Given the description of an element on the screen output the (x, y) to click on. 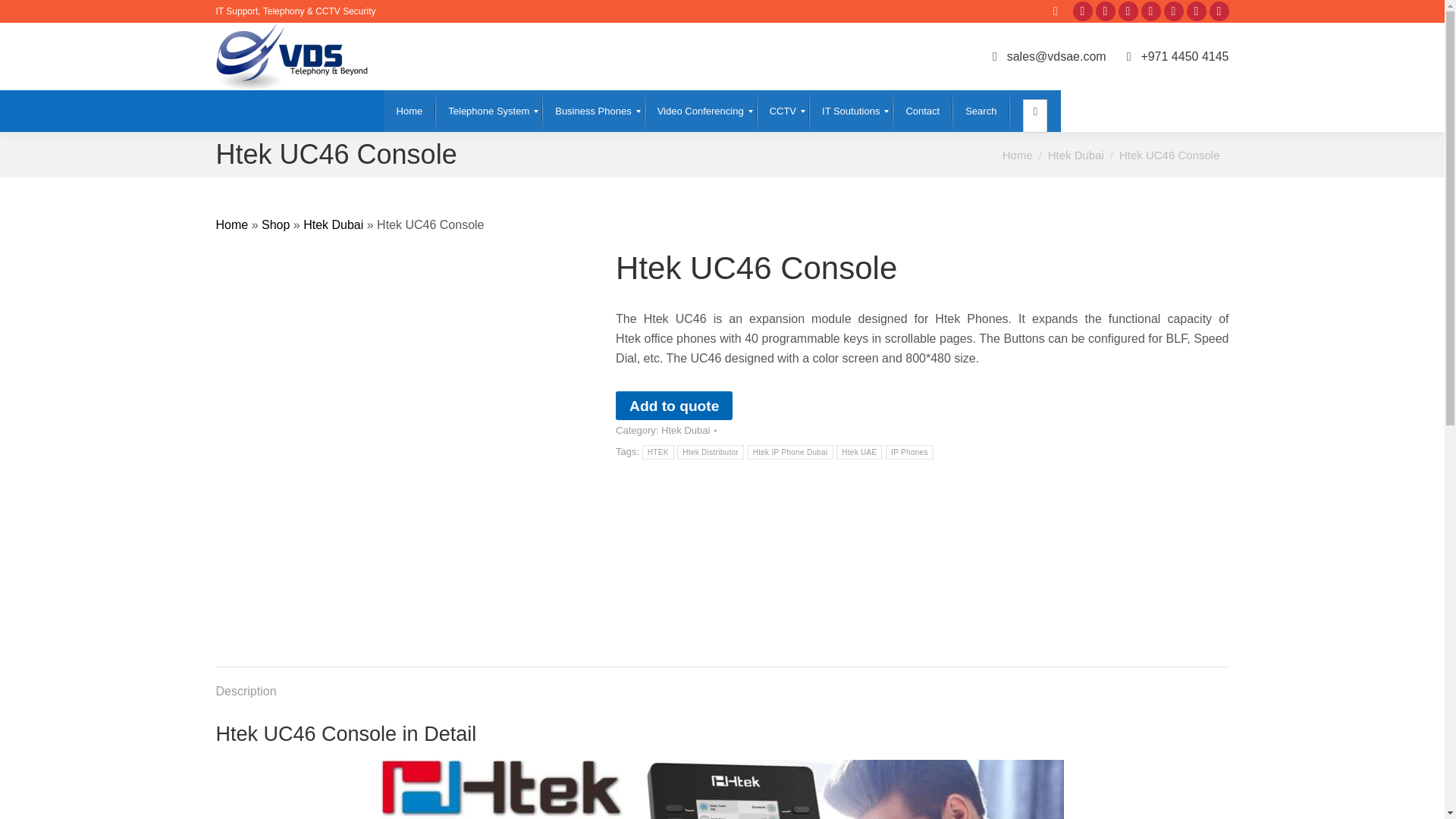
YouTube page opens in new window (1195, 11)
X page opens in new window (1104, 11)
YouTube page opens in new window (1195, 11)
Blogger page opens in new window (1172, 11)
Pinterest page opens in new window (1127, 11)
Htek Dubai (1075, 154)
Instagram page opens in new window (1150, 11)
Telephone System (488, 110)
Home (1017, 154)
Blogger page opens in new window (1172, 11)
